Given the description of an element on the screen output the (x, y) to click on. 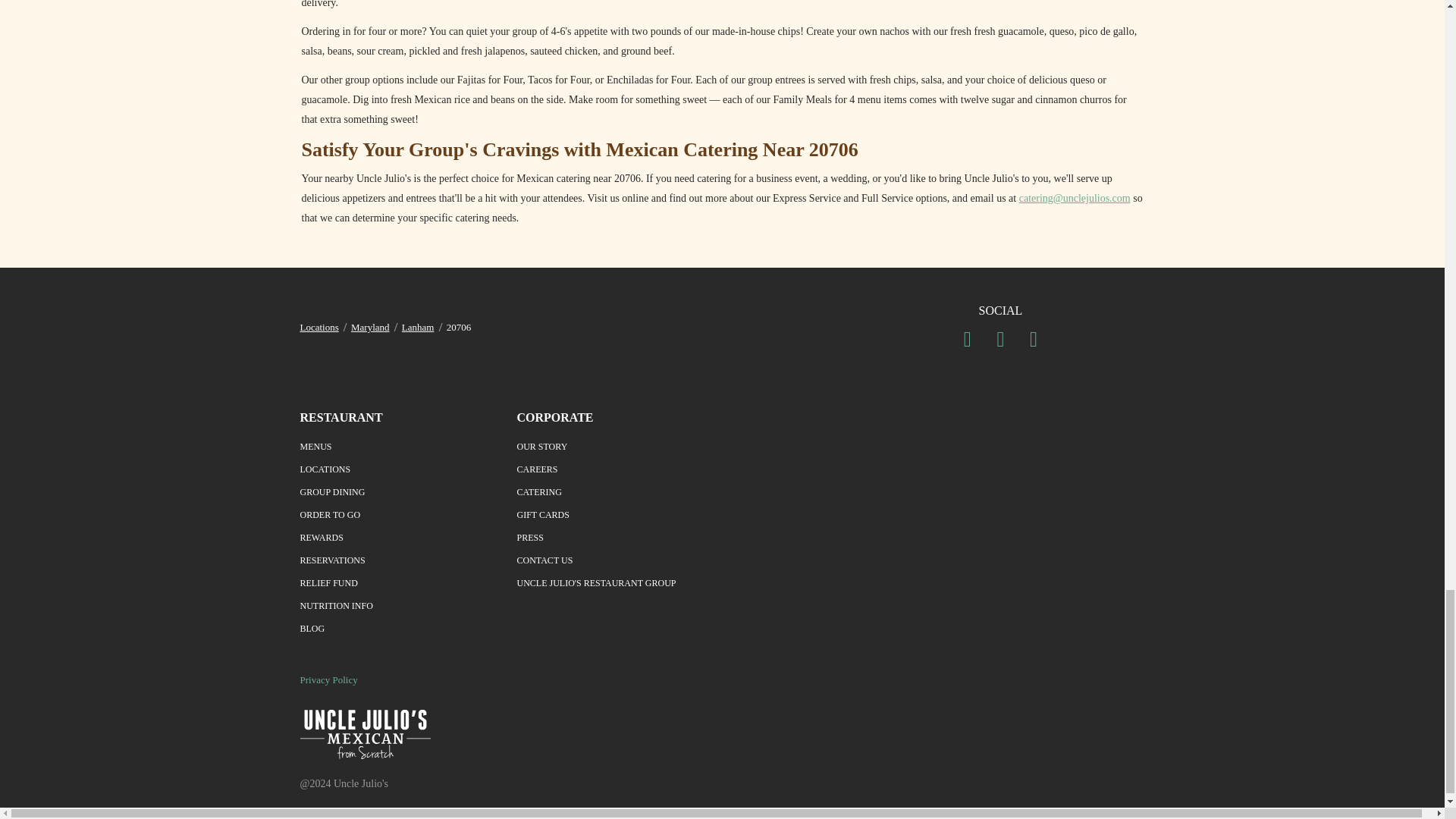
Maryland (370, 326)
Lanham (417, 326)
Locations (319, 326)
